Given the description of an element on the screen output the (x, y) to click on. 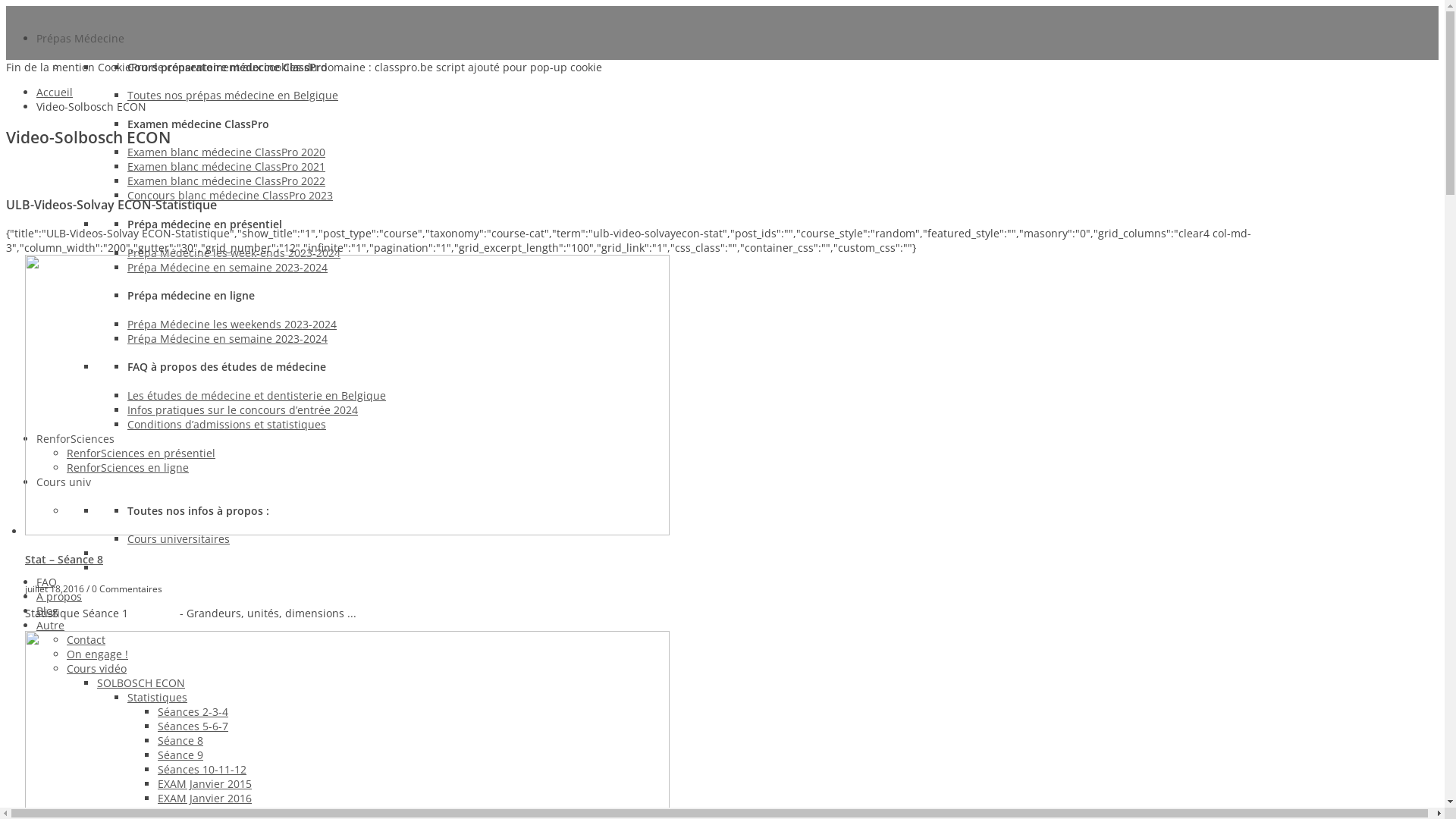
FAQ Element type: text (46, 581)
Autre Element type: text (50, 625)
RenforSciences en ligne Element type: text (127, 467)
EXAM Janvier 2016 Element type: text (204, 797)
Cours universitaires Element type: text (178, 538)
On engage ! Element type: text (97, 653)
RenforSciences Element type: text (75, 438)
EXAM Janvier 2015 Element type: text (204, 783)
Blog Element type: text (47, 610)
A propos Element type: text (58, 596)
SOLBOSCH ECON Element type: text (141, 682)
Contact Element type: text (85, 639)
Cours univ Element type: text (63, 481)
Statistiques Element type: text (157, 697)
Accueil Element type: text (54, 91)
